Given the description of an element on the screen output the (x, y) to click on. 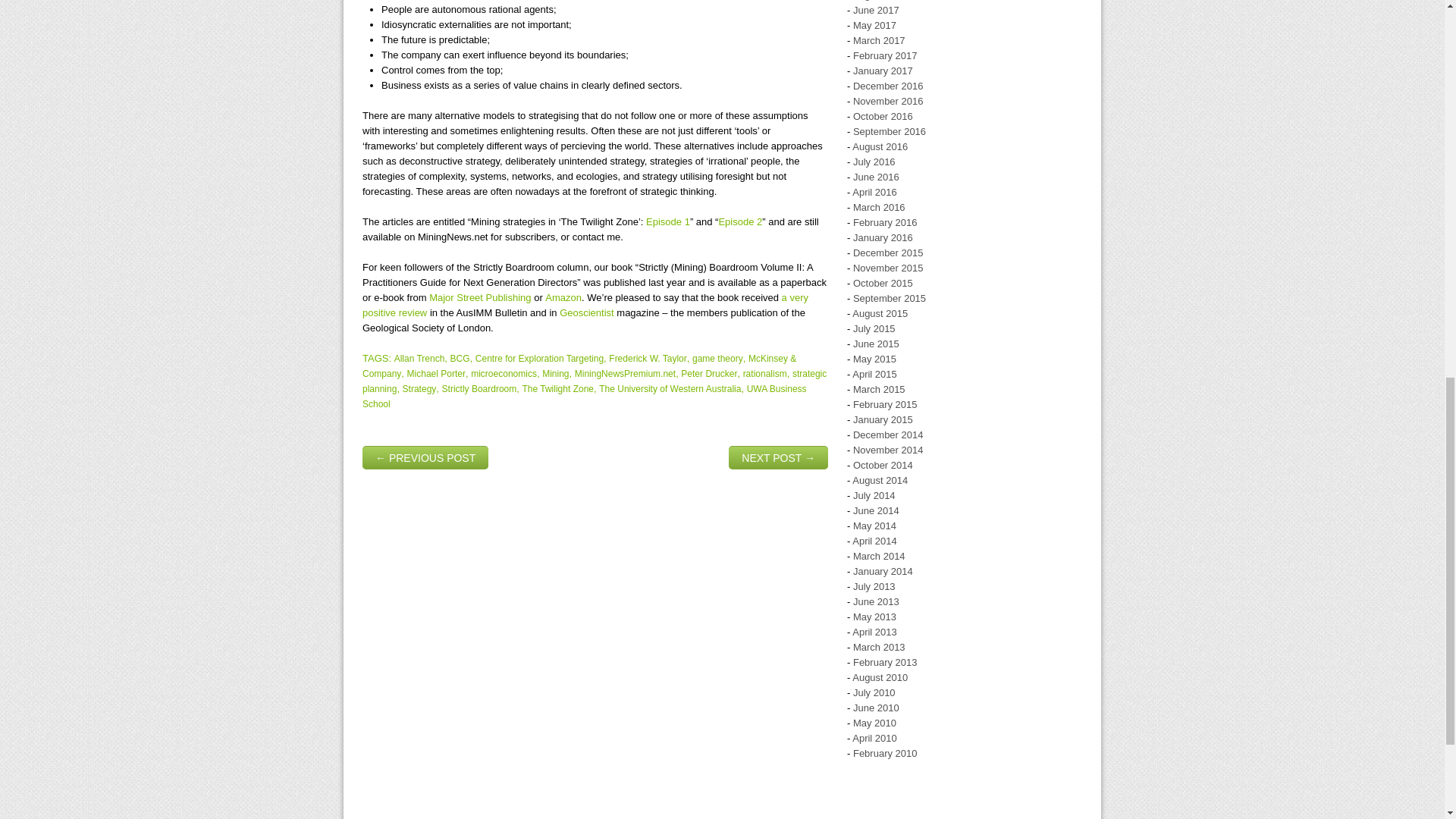
Amazon (562, 297)
Frederick W. Taylor (646, 357)
Centre for Exploration Targeting (540, 357)
a very positive review (585, 304)
Peter Drucker (708, 373)
The Twilight Zone (557, 388)
strategic planning (594, 380)
BCG (459, 357)
UWA Business School (584, 396)
Geoscientist (586, 312)
